Given the description of an element on the screen output the (x, y) to click on. 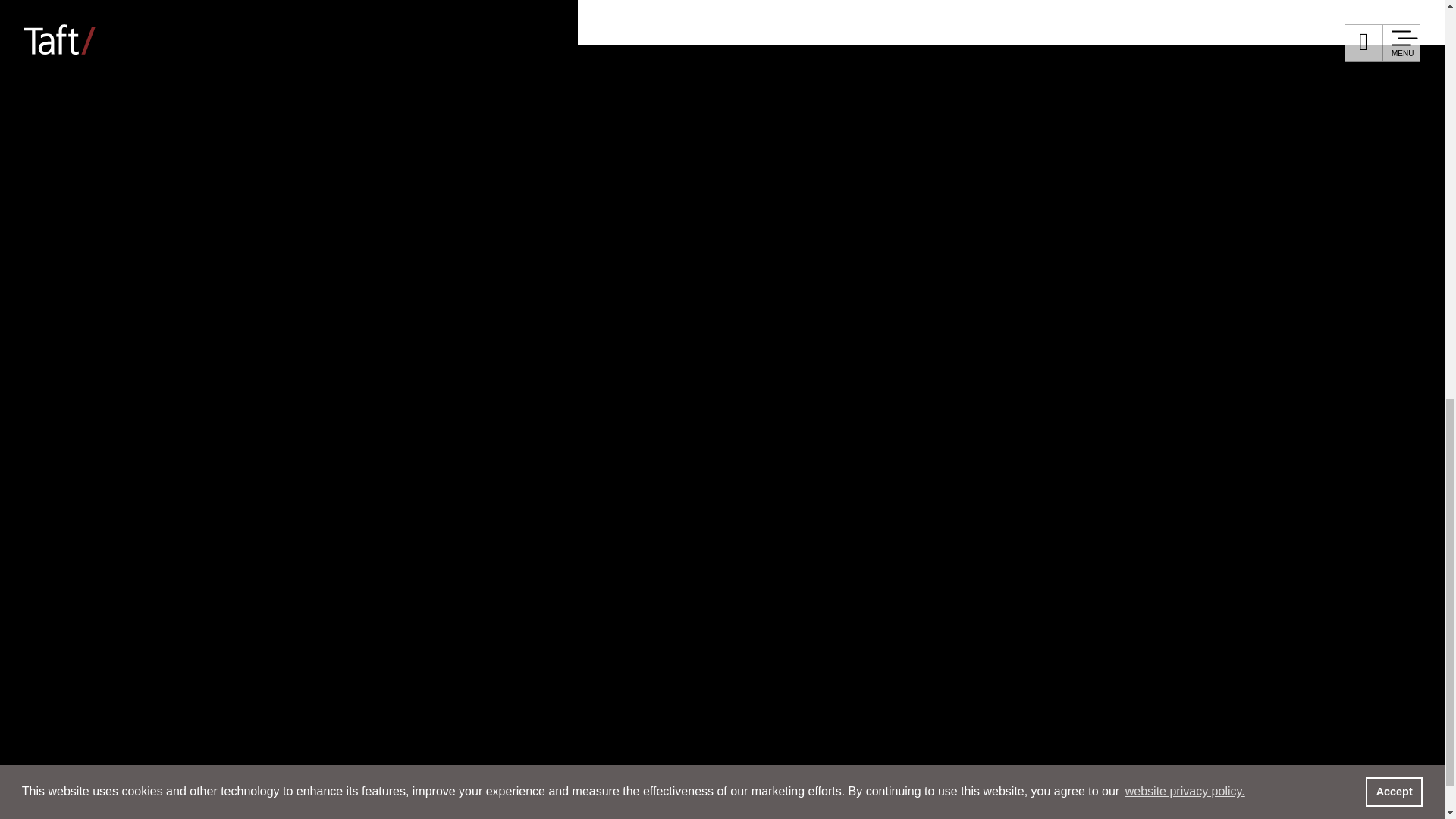
Subscribe (925, 610)
Contact Us (836, 610)
Payments (861, 636)
Affiliates (753, 610)
Careers (136, 535)
About (124, 624)
Privacy (1002, 610)
People (129, 176)
Terms and Conditions (1114, 610)
Accessibility (1242, 610)
Services (144, 265)
